Given the description of an element on the screen output the (x, y) to click on. 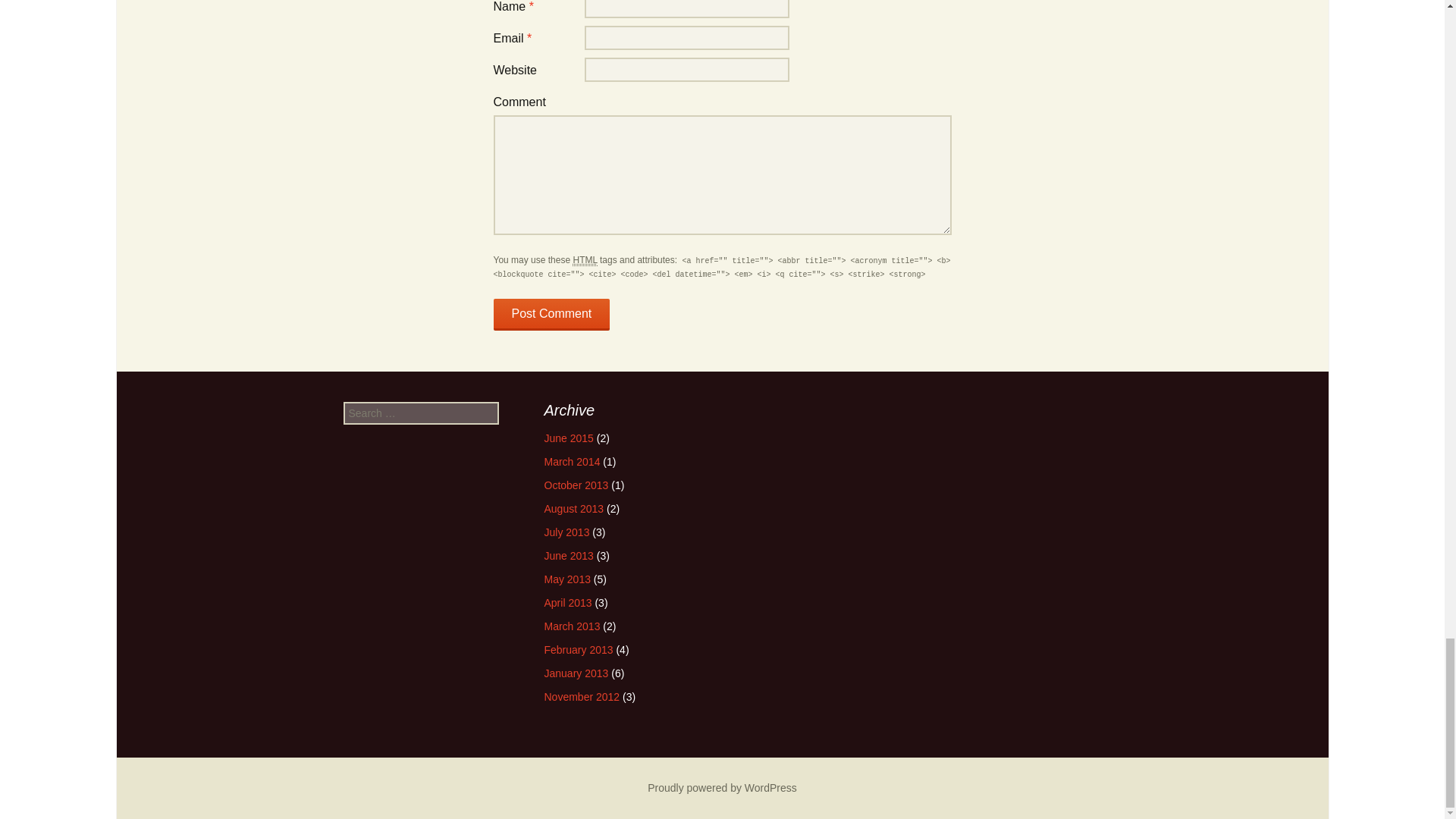
January 2013 (576, 673)
July 2013 (566, 532)
November 2012 (582, 696)
August 2013 (574, 508)
Semantic Personal Publishing Platform (721, 787)
June 2015 (569, 438)
Proudly powered by WordPress (721, 787)
April 2013 (568, 603)
March 2013 (571, 625)
Post Comment (551, 314)
March 2014 (571, 461)
June 2013 (569, 555)
HyperText Markup Language (584, 260)
October 2013 (576, 485)
Search for: (419, 413)
